Given the description of an element on the screen output the (x, y) to click on. 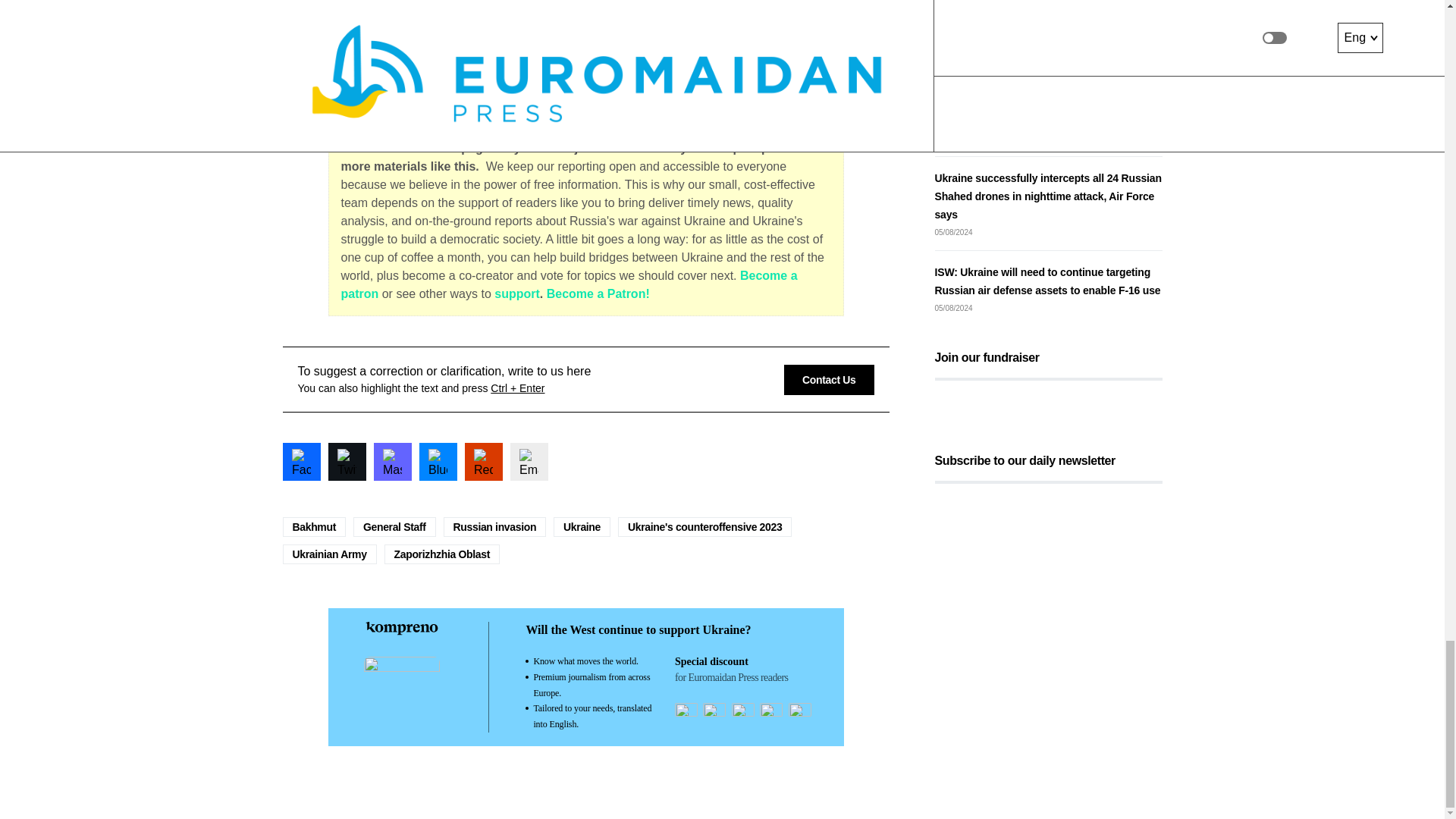
Share to Twitter (346, 461)
Share to Mastodon (391, 461)
Share to Bluesky (438, 461)
Share to Email (528, 461)
Share to Facebook (301, 461)
Share to Reddit (483, 461)
